Given the description of an element on the screen output the (x, y) to click on. 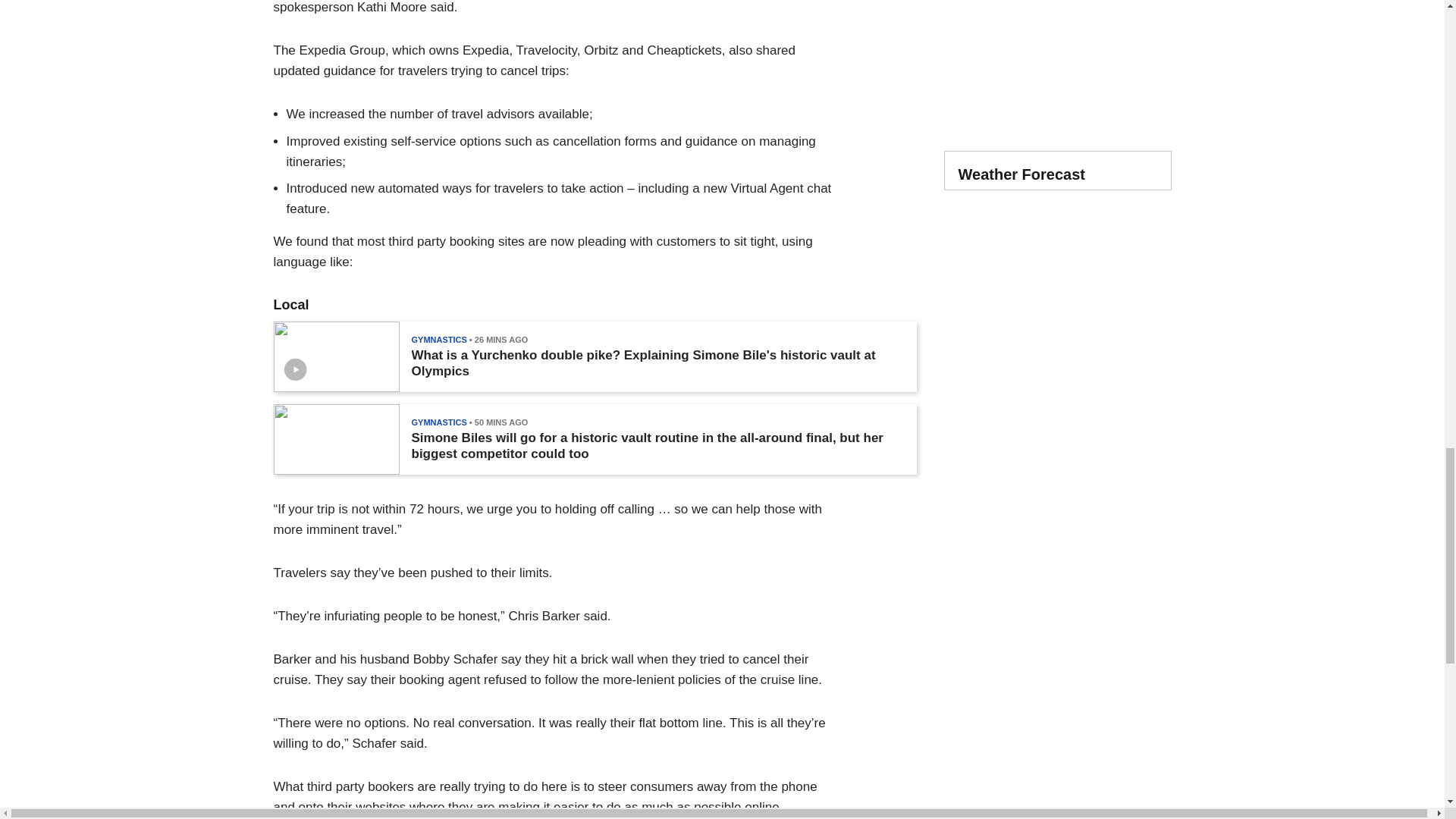
GYMNASTICS (437, 421)
GYMNASTICS (437, 338)
